Given the description of an element on the screen output the (x, y) to click on. 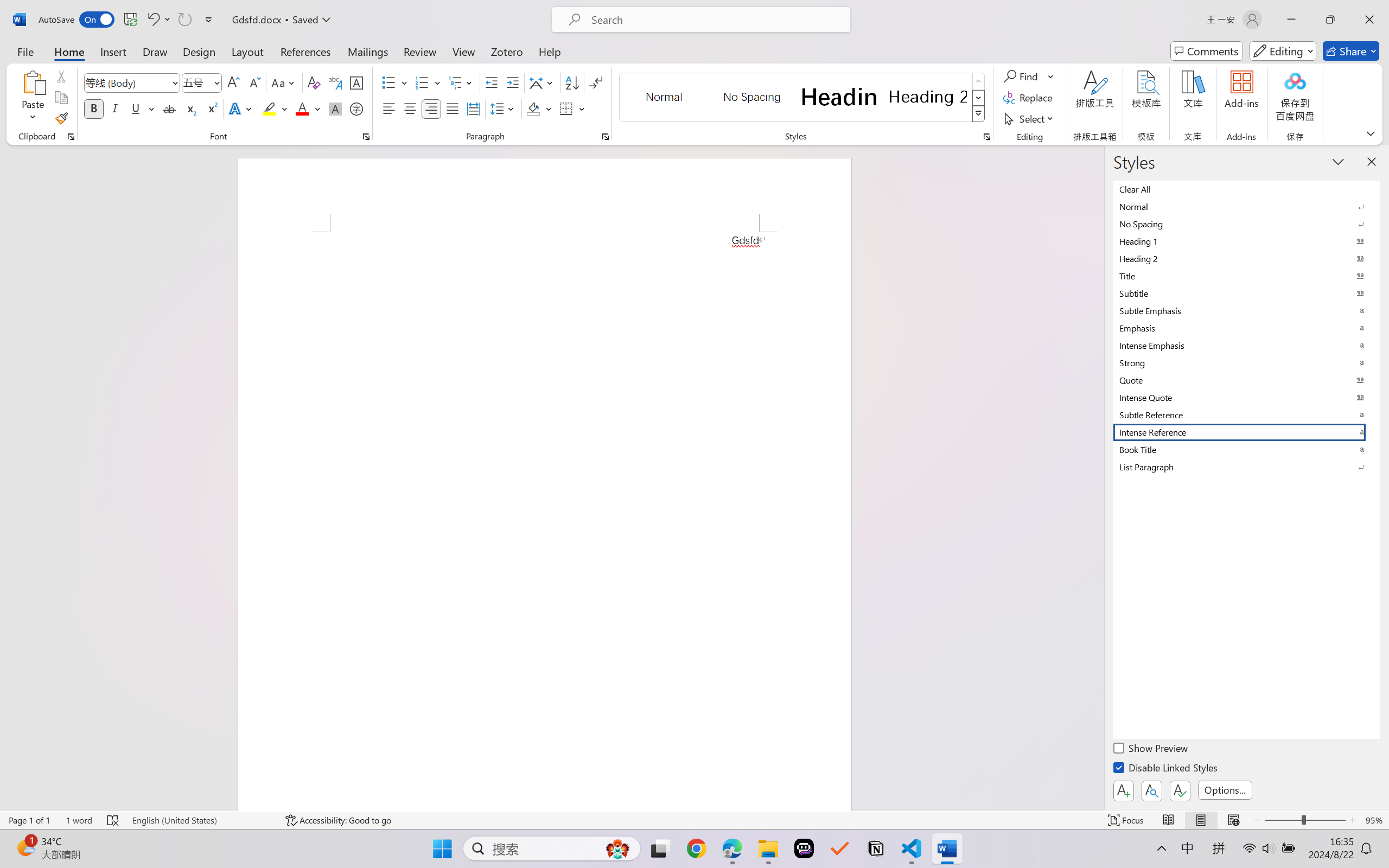
Cut (60, 75)
AutomationID: QuickStylesGallery (802, 97)
Clear All (1246, 188)
Align Left (388, 108)
Can't Repeat (184, 19)
Intense Reference (1246, 431)
Phonetic Guide... (334, 82)
Intense Quote (1246, 397)
